Given the description of an element on the screen output the (x, y) to click on. 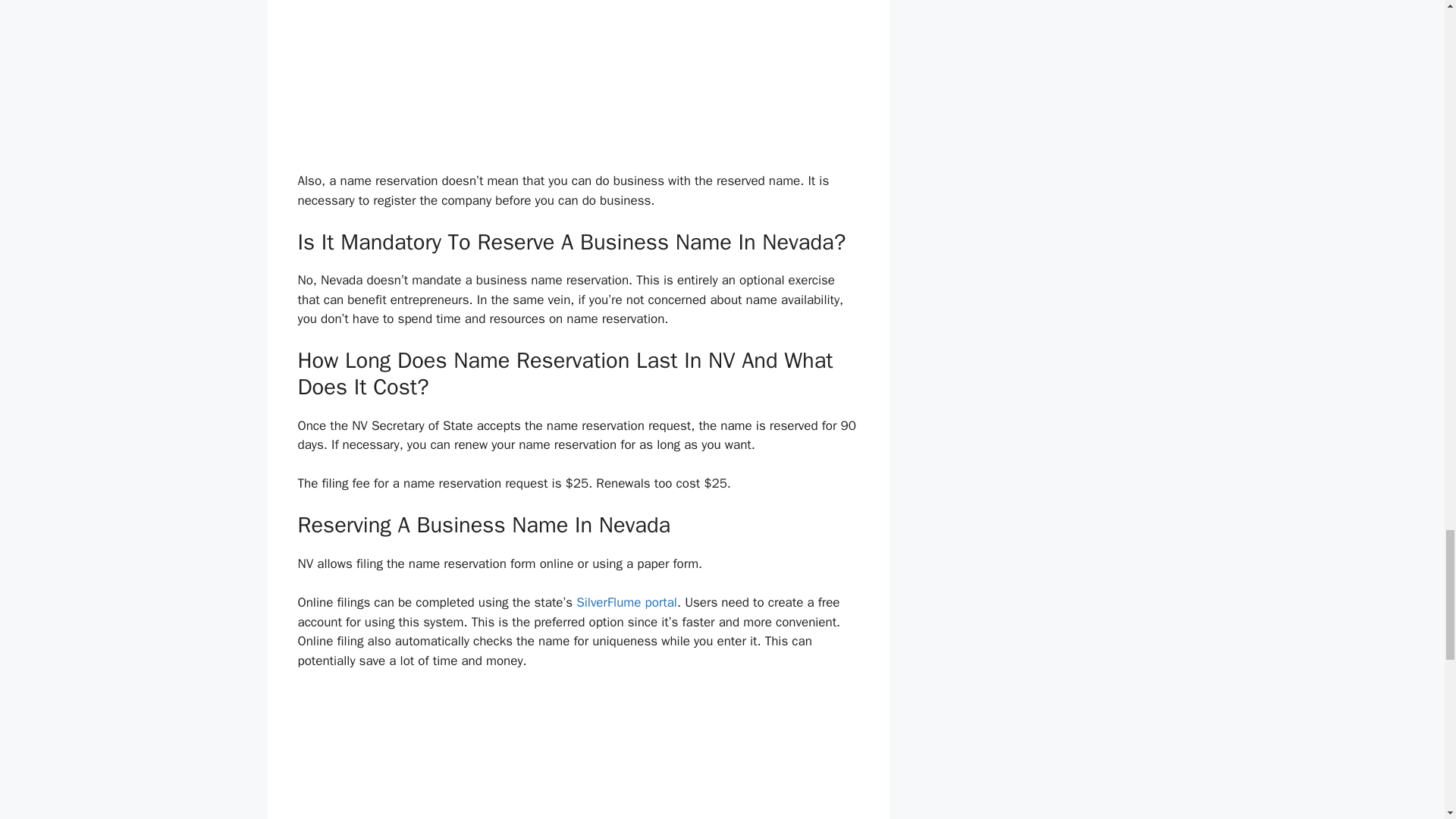
SilverFlume portal (626, 602)
